Given the description of an element on the screen output the (x, y) to click on. 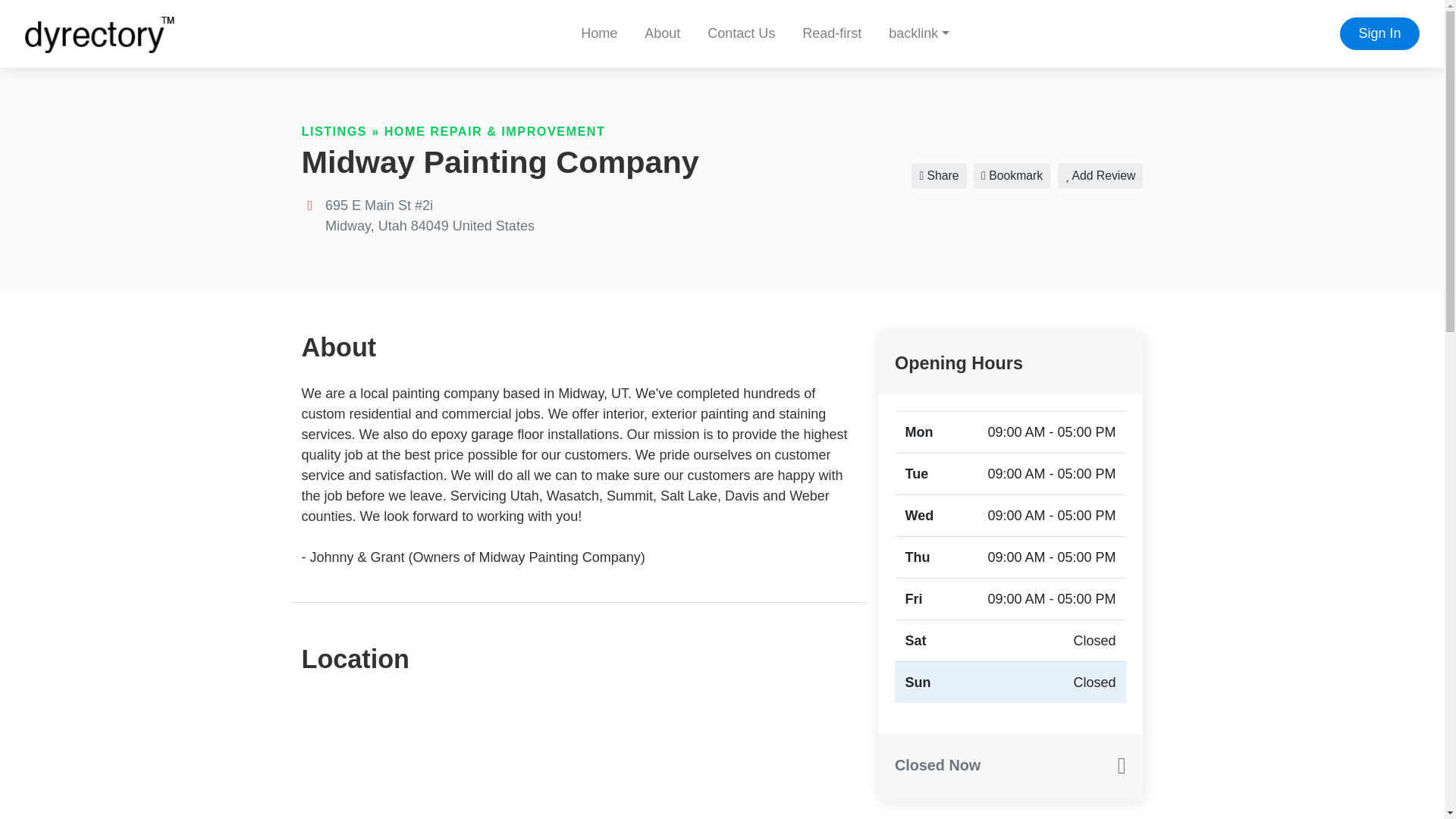
LISTINGS (334, 131)
Read-first (832, 33)
Contact Us (741, 33)
Home (598, 33)
About (662, 33)
Sign In (1379, 33)
Bookmark (1011, 175)
Add Review (1100, 175)
backlink (918, 33)
